Given the description of an element on the screen output the (x, y) to click on. 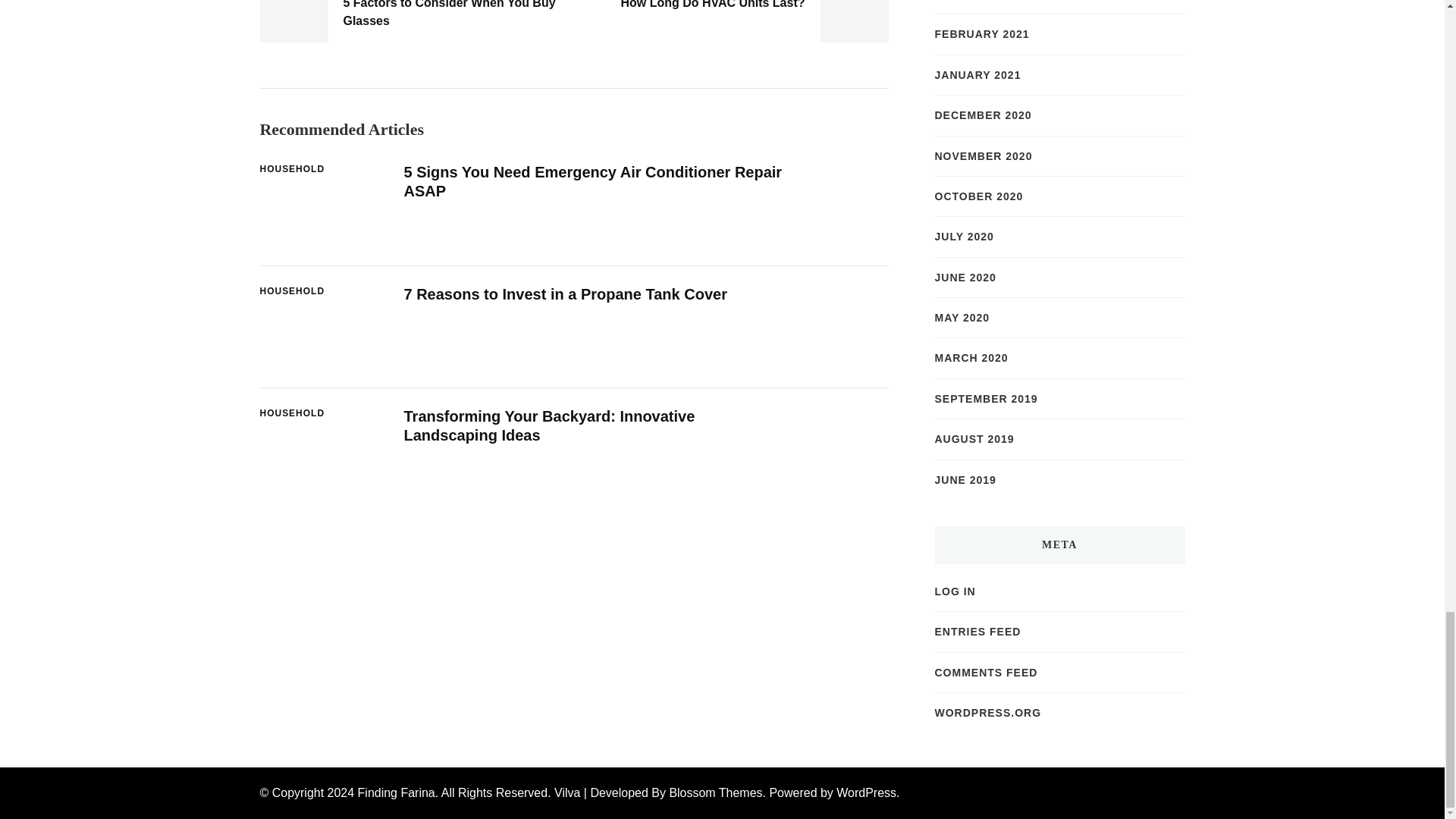
7 Reasons to Invest in a Propane Tank Cover (564, 293)
HOUSEHOLD (291, 413)
Transforming Your Backyard: Innovative Landscaping Ideas (548, 425)
5 Signs You Need Emergency Air Conditioner Repair ASAP (592, 181)
HOUSEHOLD (291, 169)
HOUSEHOLD (291, 291)
